Given the description of an element on the screen output the (x, y) to click on. 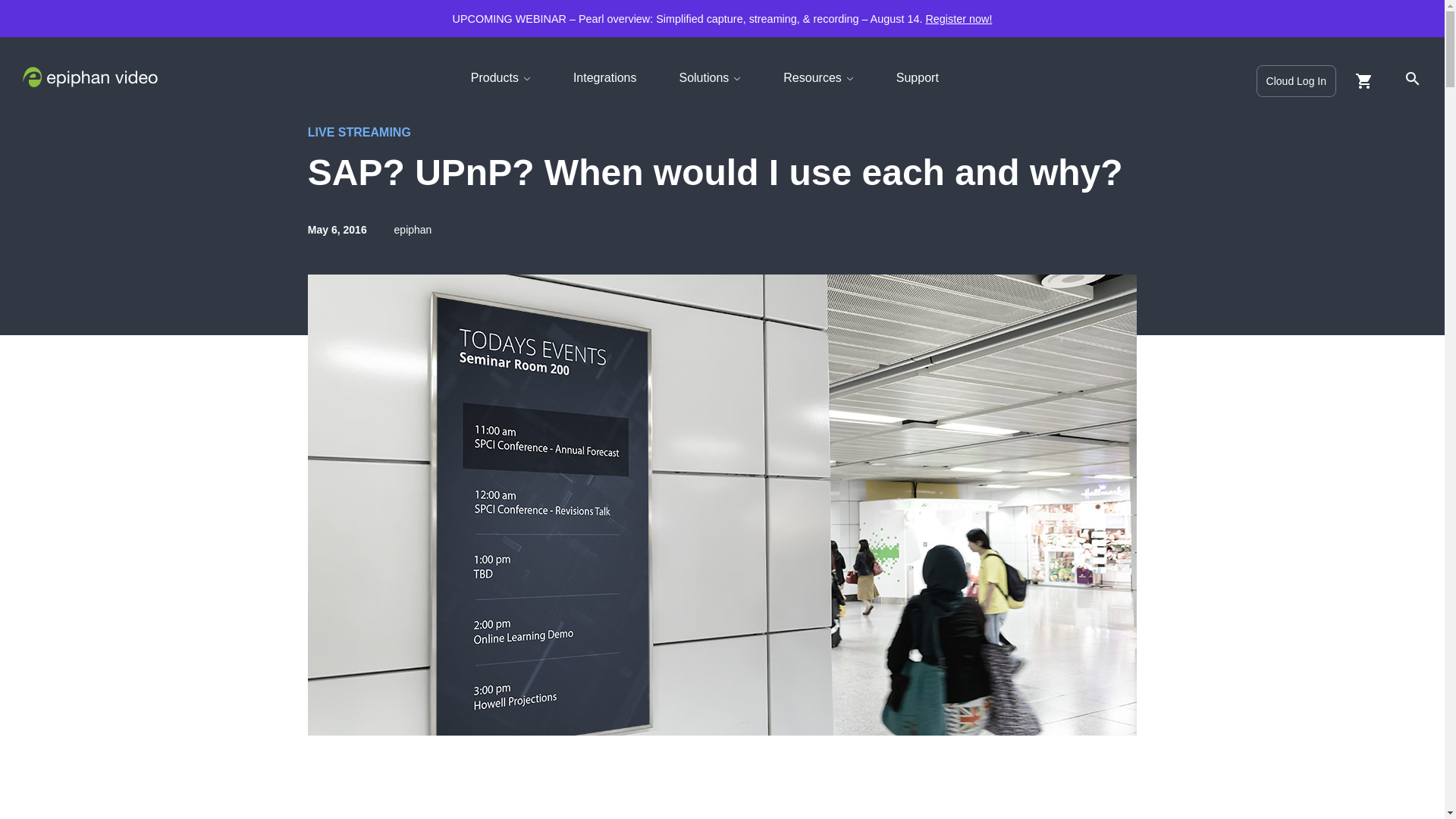
Support (920, 77)
Register now! (957, 17)
Cloud Log In (1296, 81)
Products (503, 77)
Resources (821, 77)
Integrations (608, 77)
Solutions (712, 77)
